Given the description of an element on the screen output the (x, y) to click on. 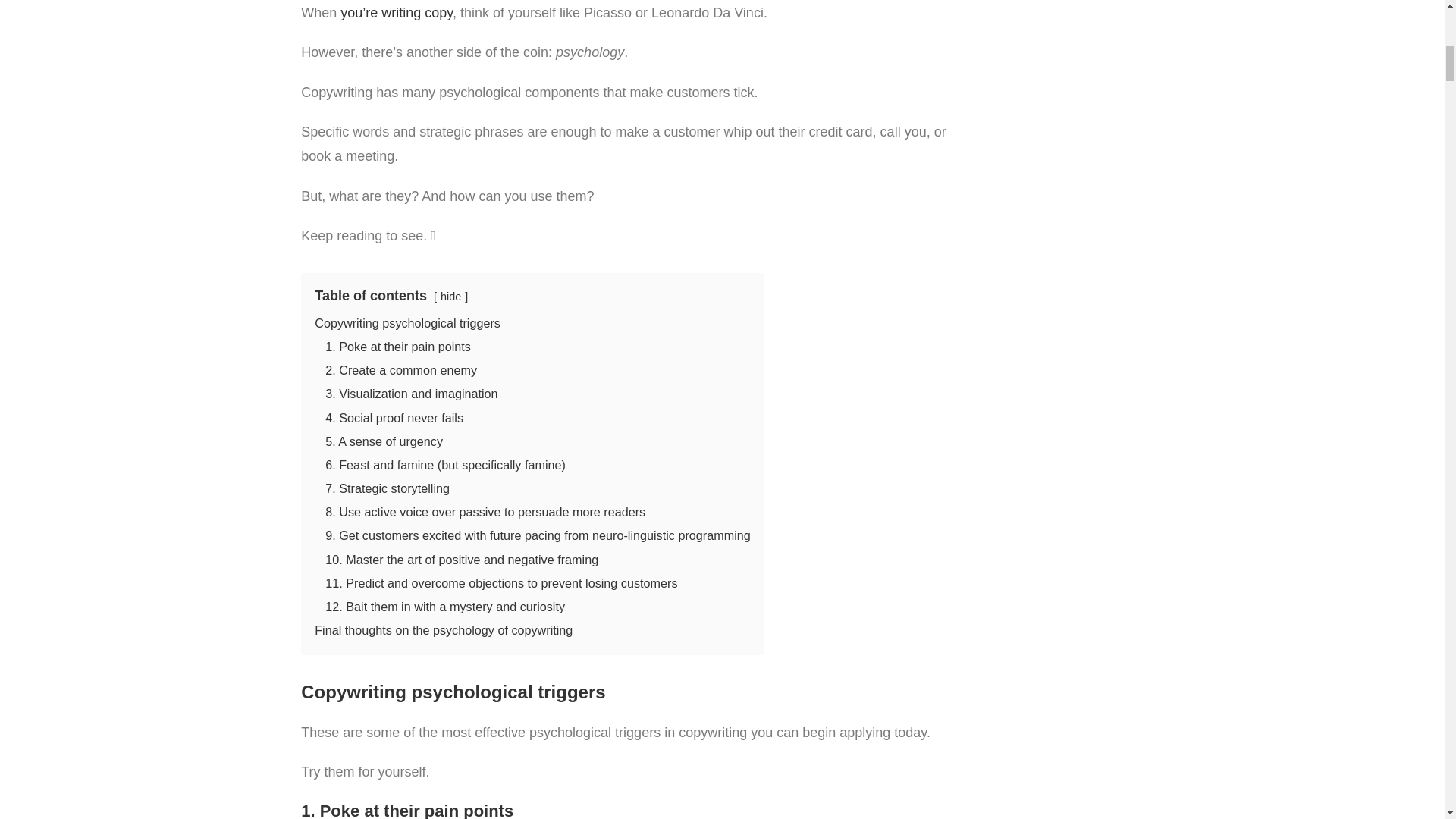
Copywriting psychological triggers (407, 323)
2. Create a common enemy (400, 369)
hide (451, 296)
1. Poke at their pain points (397, 345)
